Given the description of an element on the screen output the (x, y) to click on. 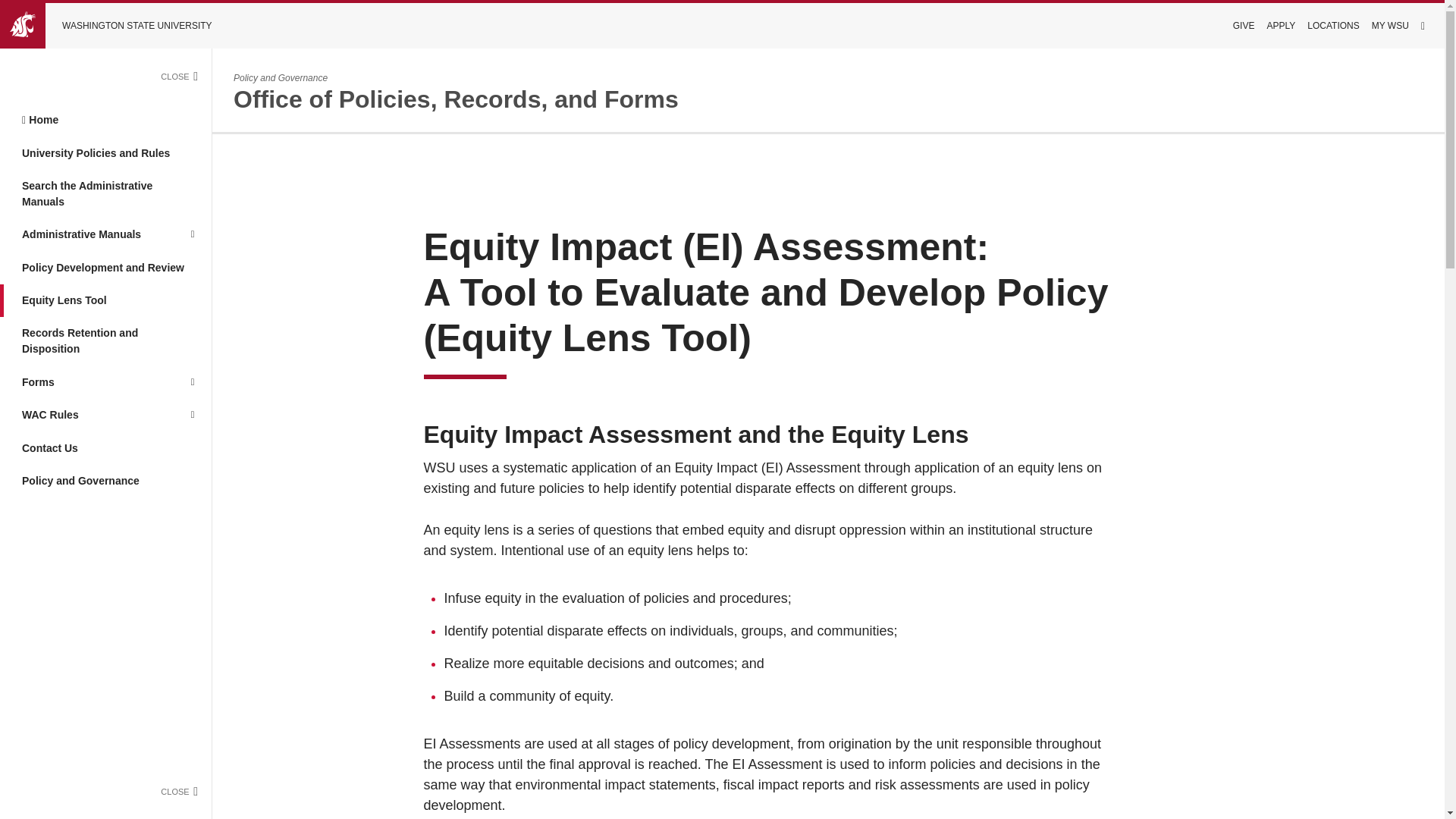
Forms (86, 382)
LOCATIONS (1332, 25)
Policy and Governance (105, 481)
Search the Administrative Manuals (105, 193)
Policy Development and Review (105, 267)
Contact Us (105, 447)
Contact Us (105, 447)
Equity Lens Tool (105, 300)
University Policies and Rules (105, 152)
Home (105, 120)
